Given the description of an element on the screen output the (x, y) to click on. 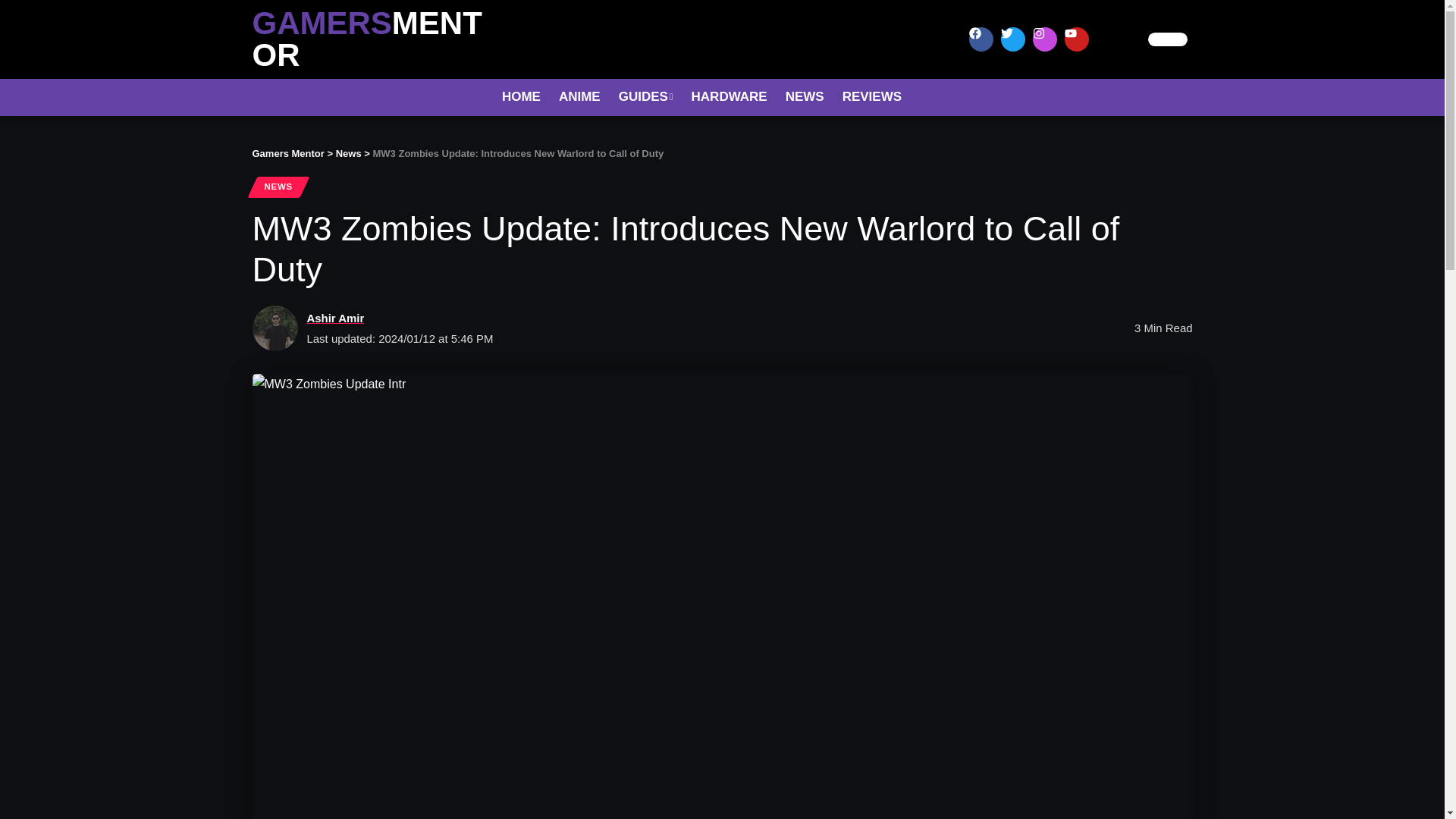
Go to Gamers Mentor. (287, 153)
Go to the News Category archives. (348, 153)
ANIME (580, 97)
HOME (521, 97)
NEWS (804, 97)
NEWS (277, 186)
HARDWARE (729, 97)
GAMERSMENTOR (366, 38)
Ashir Amir (334, 317)
Gamers Mentor (287, 153)
News (348, 153)
GUIDES (646, 97)
REVIEWS (871, 97)
